Given the description of an element on the screen output the (x, y) to click on. 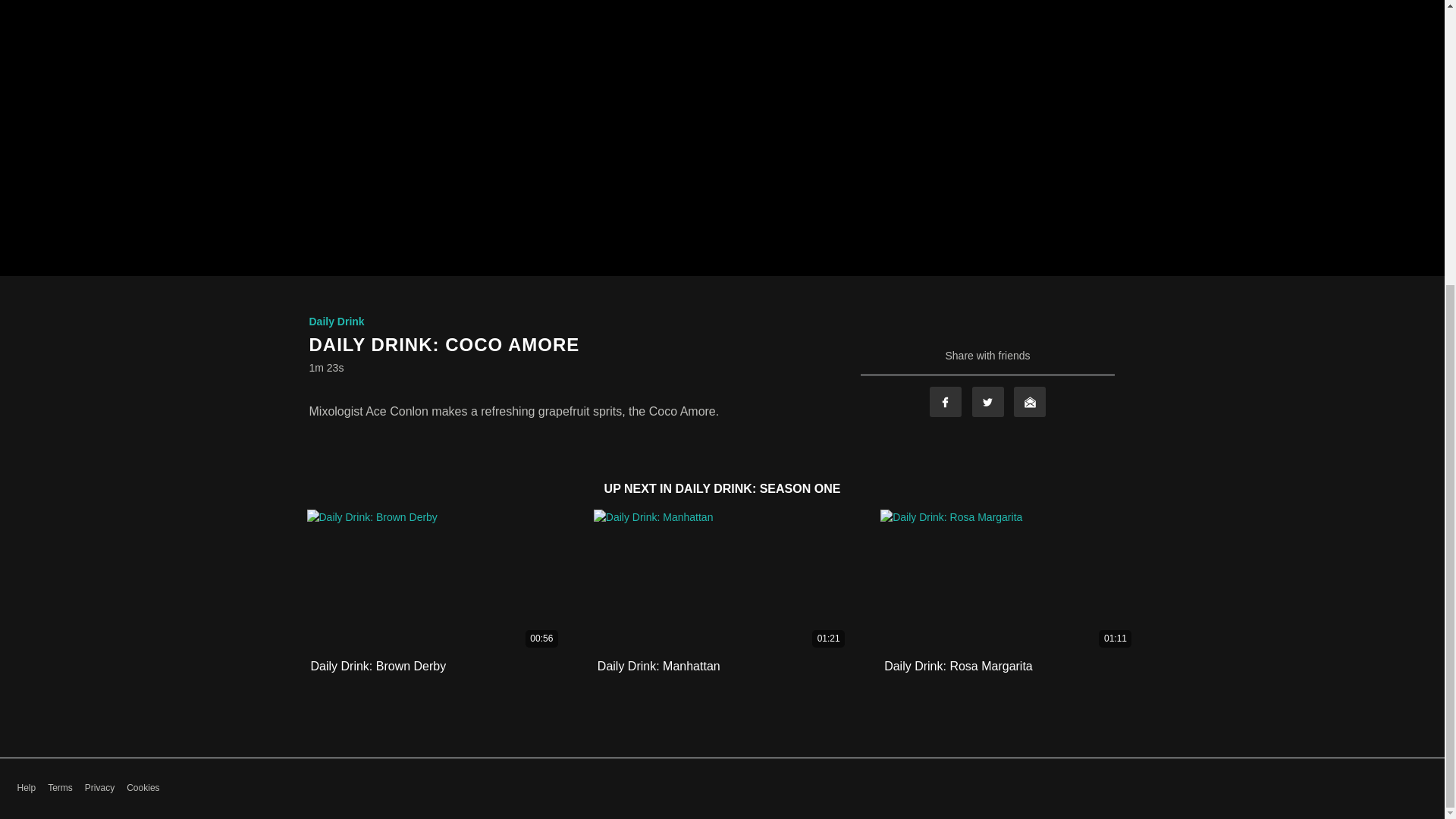
Cookies (142, 788)
Daily Drink (336, 321)
FACEBOOK (945, 401)
Terms (60, 788)
DAILY DRINK: SEASON ONE (758, 488)
01:11 (1008, 580)
Privacy (99, 788)
Daily Drink: Brown Derby (378, 666)
00:56 (434, 580)
Daily Drink: Rosa Margarita (957, 666)
TWITTER (988, 401)
01:21 (722, 580)
Help (25, 788)
Daily Drink: Brown Derby (378, 666)
Daily Drink: Manhattan (658, 666)
